Given the description of an element on the screen output the (x, y) to click on. 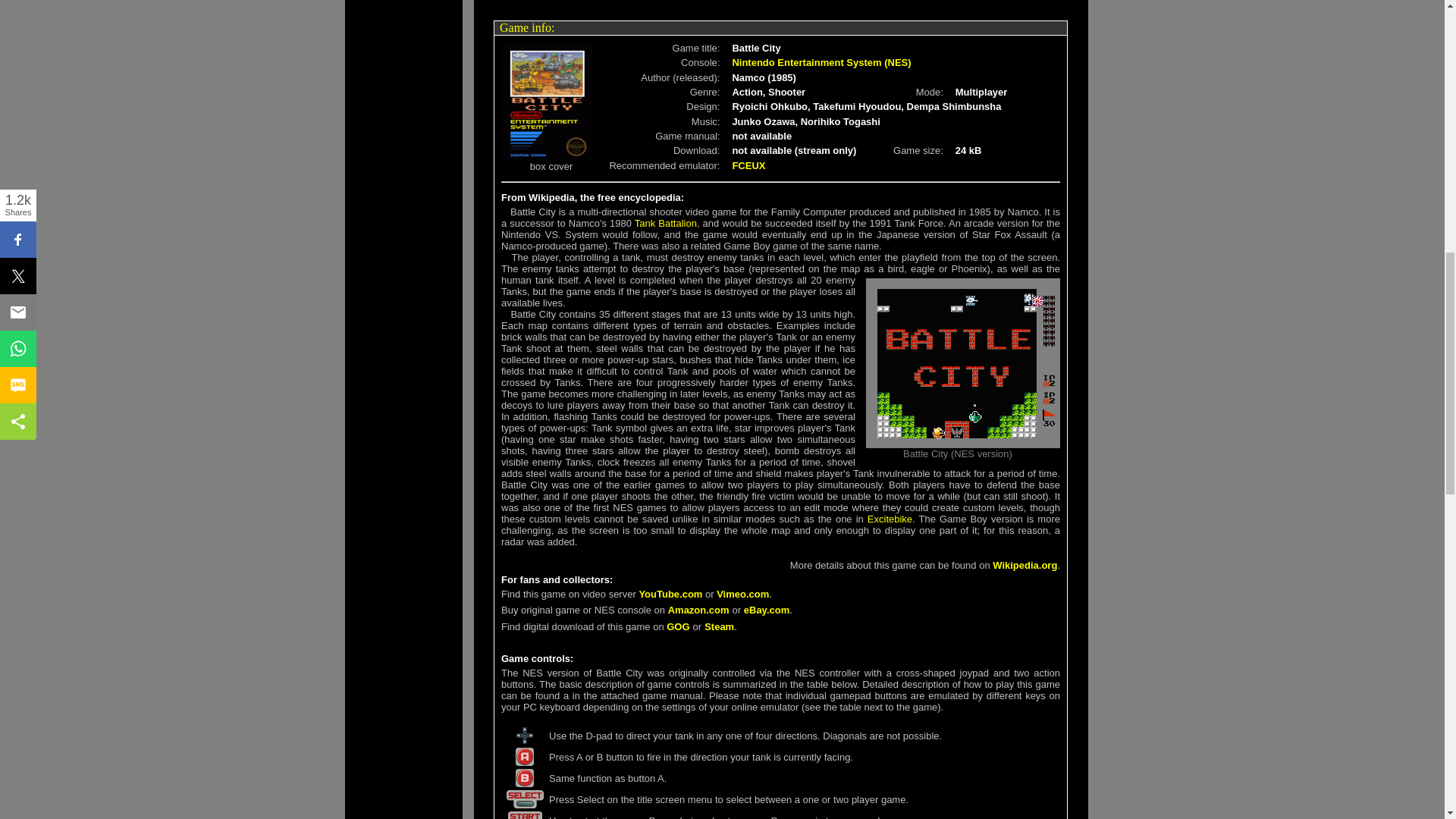
Advertisement (781, 3)
